Given the description of an element on the screen output the (x, y) to click on. 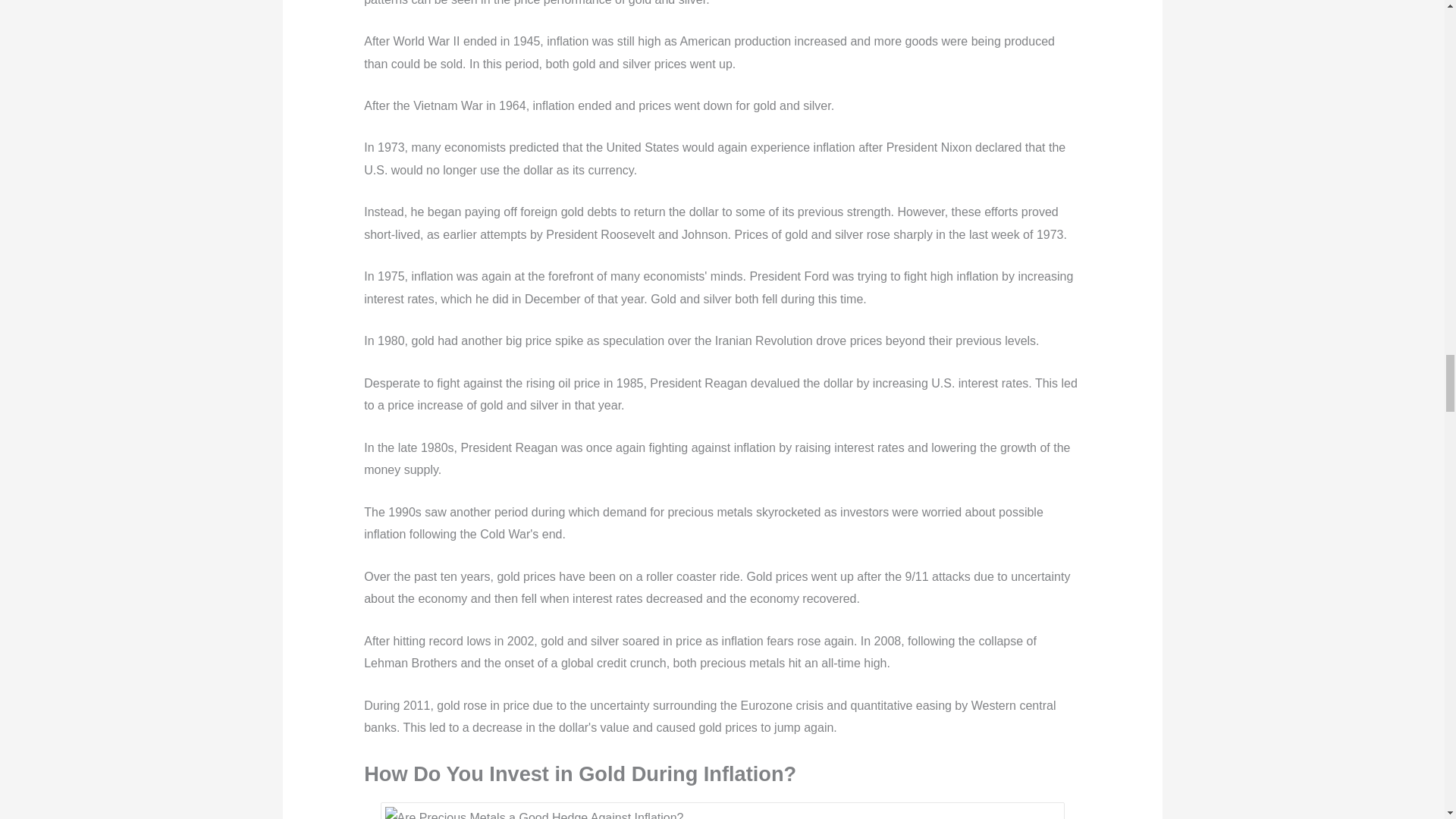
Are Precious Metals a Good Hedge Against Inflation? (722, 812)
